Given the description of an element on the screen output the (x, y) to click on. 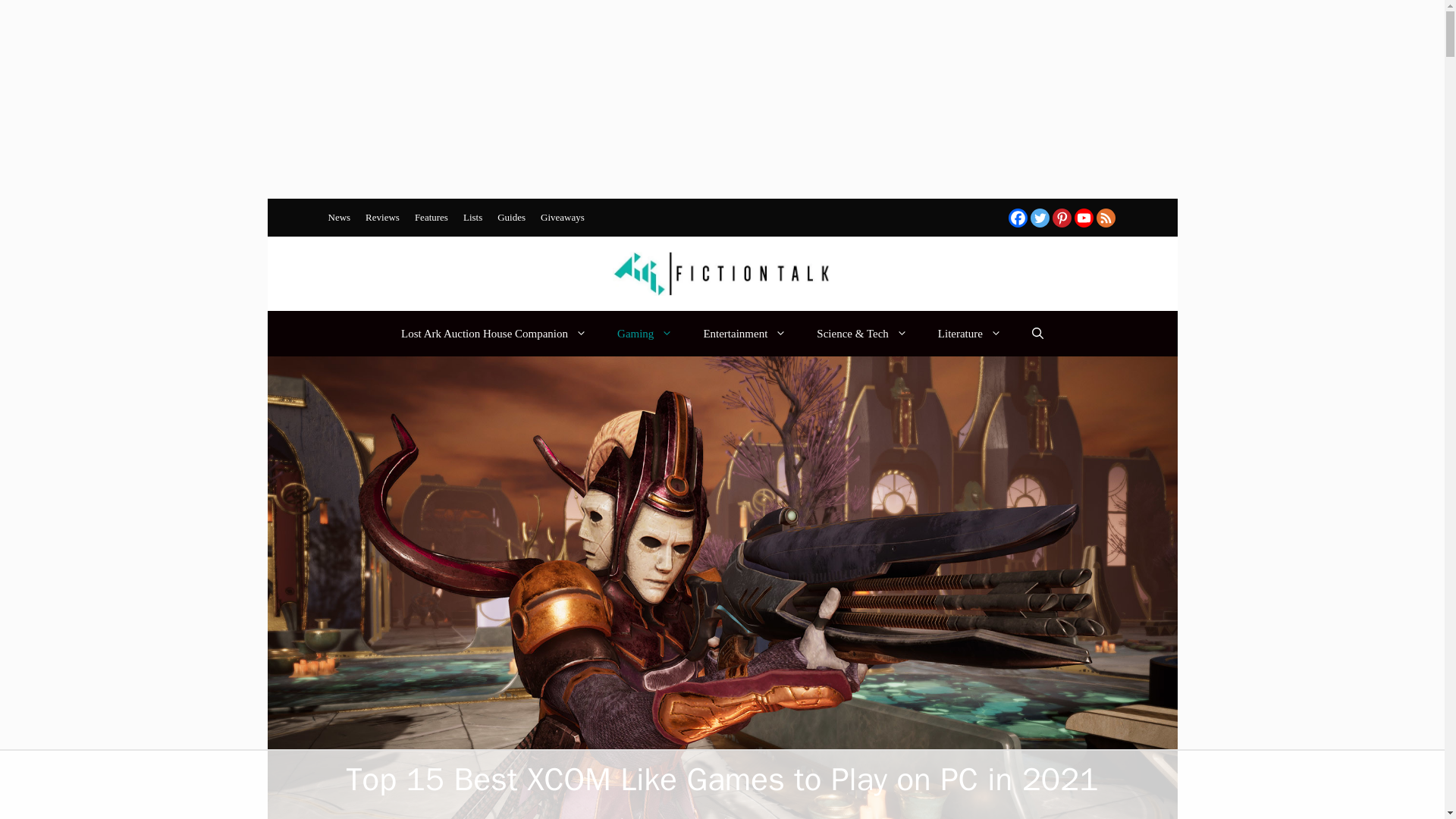
Youtube Channel (1083, 217)
Guides (511, 216)
Entertainment (744, 333)
Twitter (1038, 217)
Reviews (381, 216)
Features (431, 216)
RSS feed (1105, 217)
Gaming (644, 333)
View all posts by Jason Moth (583, 817)
Giveaways (562, 216)
Facebook (1018, 217)
Pinterest (1061, 217)
Lists (472, 216)
Lost Ark Auction House Companion (493, 333)
News (338, 216)
